Given the description of an element on the screen output the (x, y) to click on. 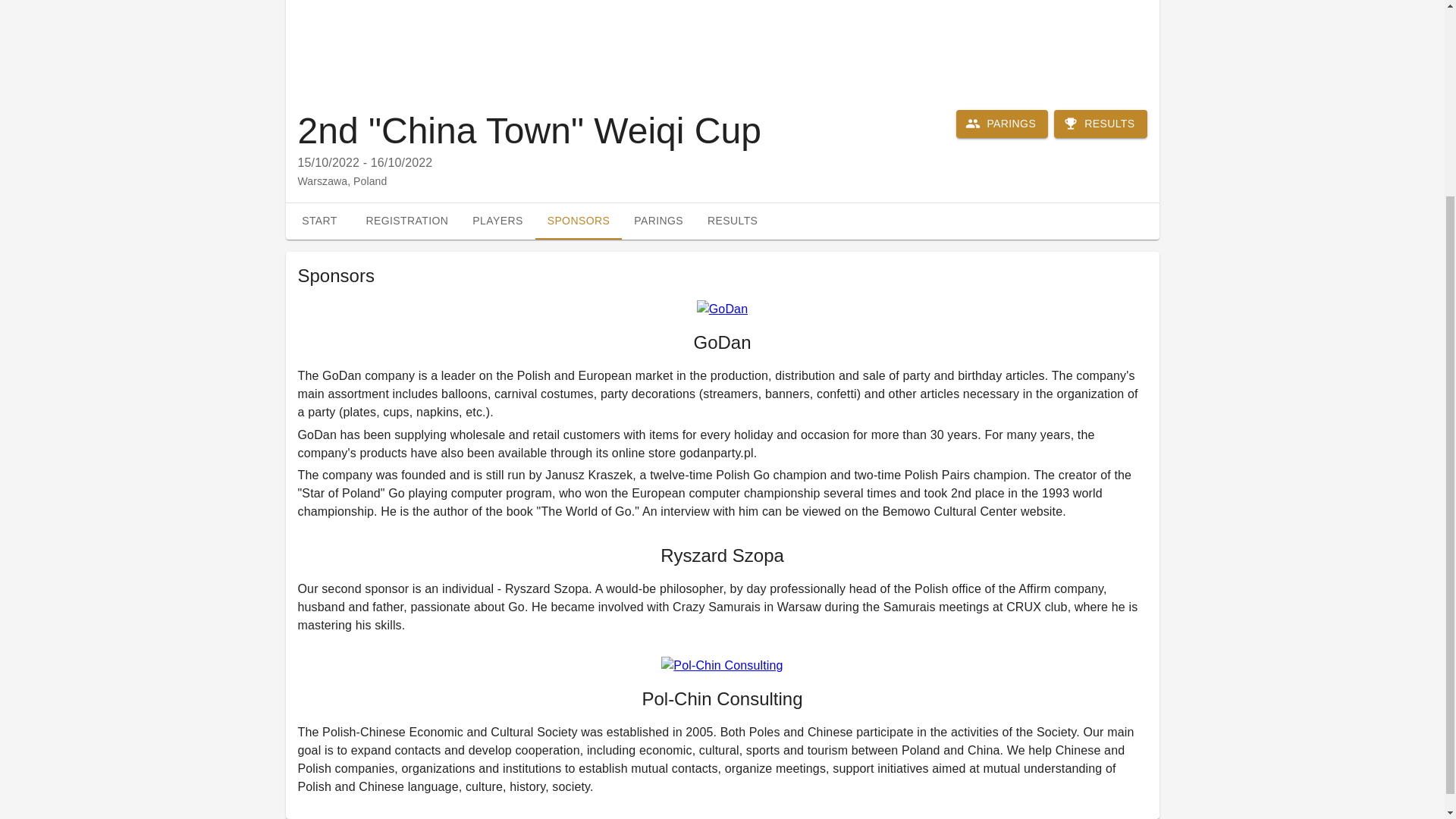
SPONSORS (579, 221)
RESULTS (721, 221)
START (732, 221)
2nd "China Town" Weiqi Cup (319, 221)
PARINGS (528, 130)
REGISTRATION (1002, 123)
RESULTS (406, 221)
PLAYERS (1100, 123)
PARINGS (497, 221)
